Given the description of an element on the screen output the (x, y) to click on. 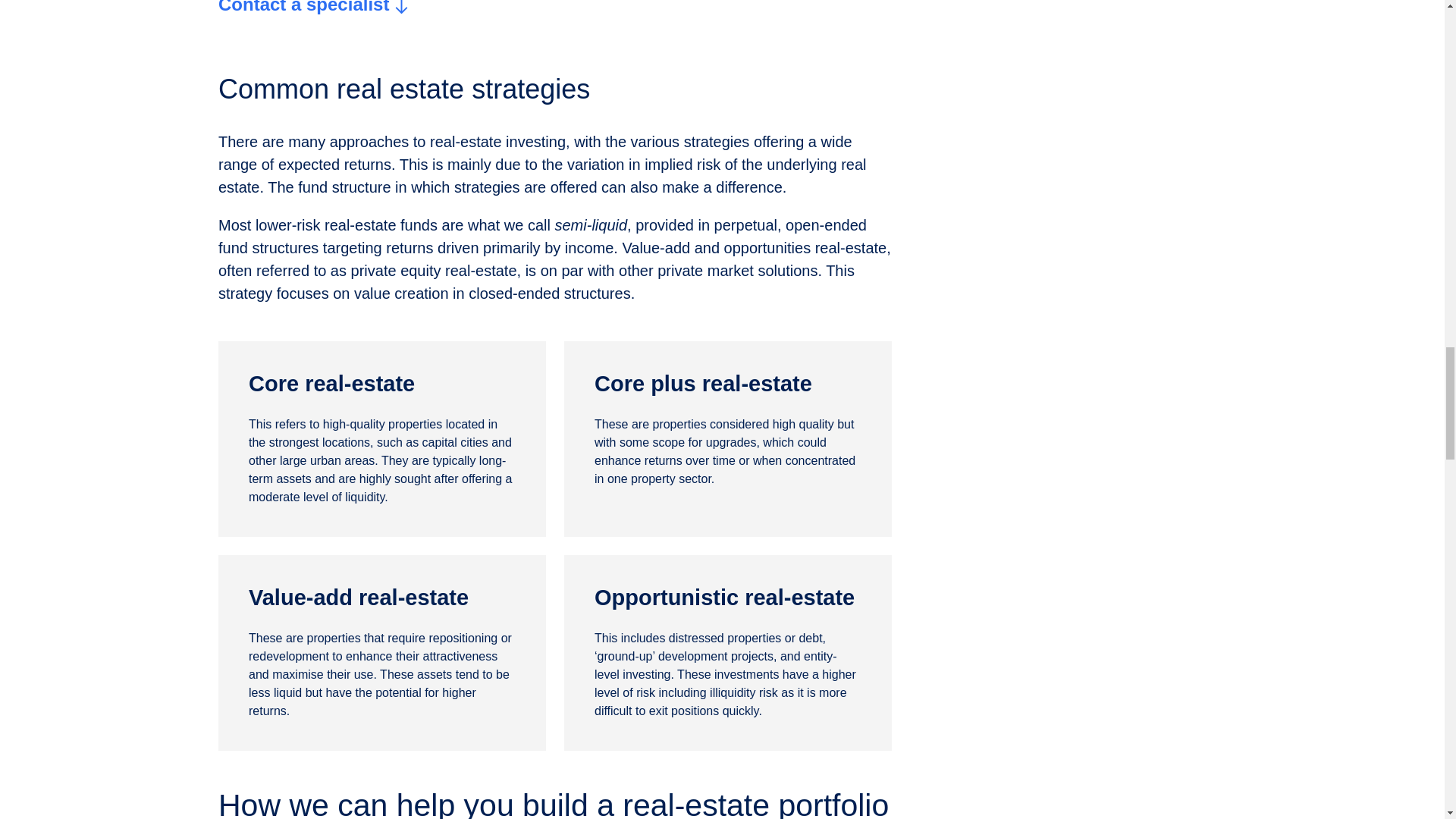
Contact a specialist (312, 9)
Contact a specialist  (312, 9)
